Given the description of an element on the screen output the (x, y) to click on. 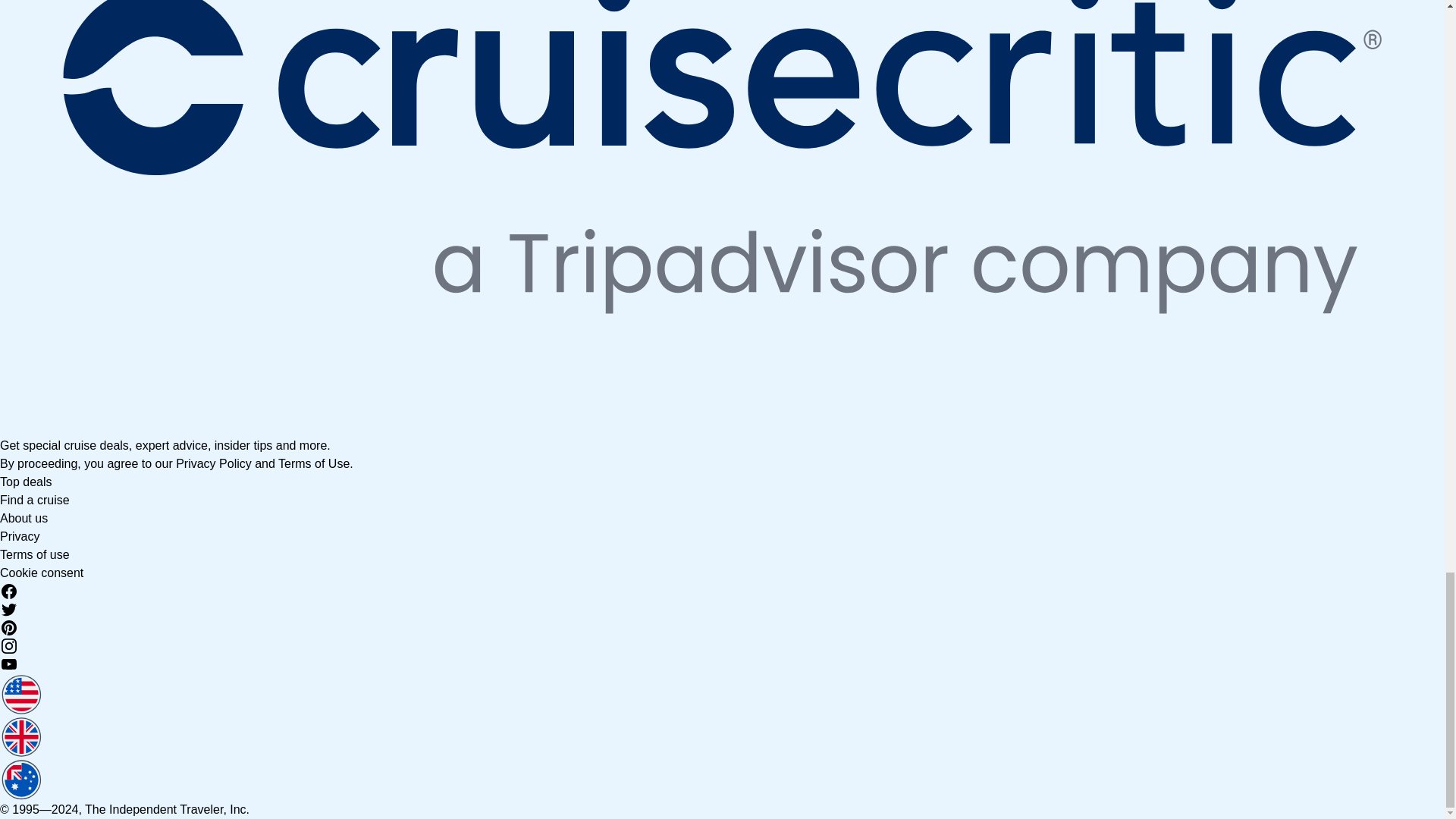
Find a cruise (34, 499)
Privacy Policy (213, 463)
Privacy (19, 535)
Terms of Use (313, 463)
Terms of use (34, 554)
Cookie consent (41, 573)
Top deals (26, 481)
About us (24, 517)
